Given the description of an element on the screen output the (x, y) to click on. 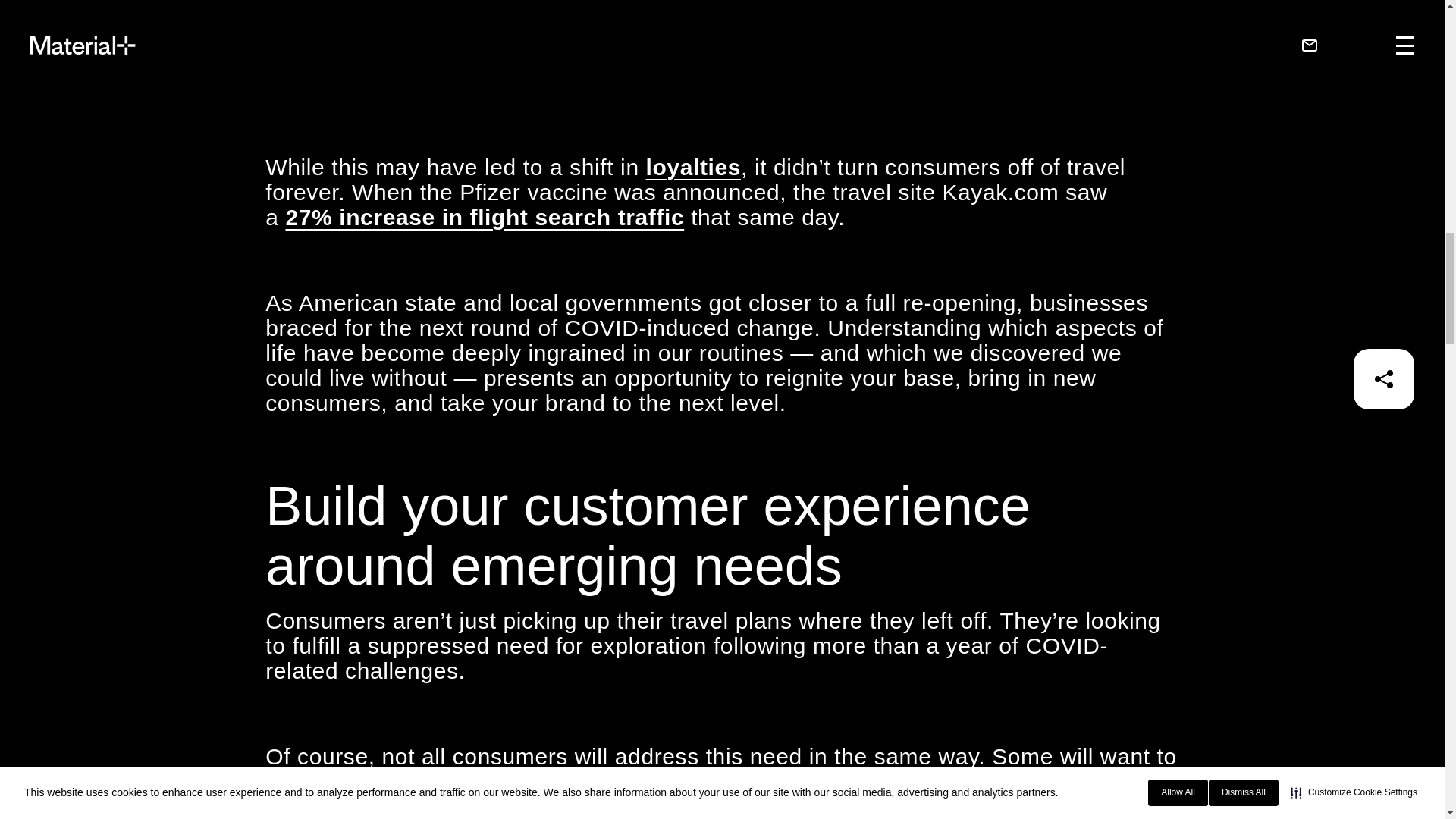
loyalties (693, 166)
